Given the description of an element on the screen output the (x, y) to click on. 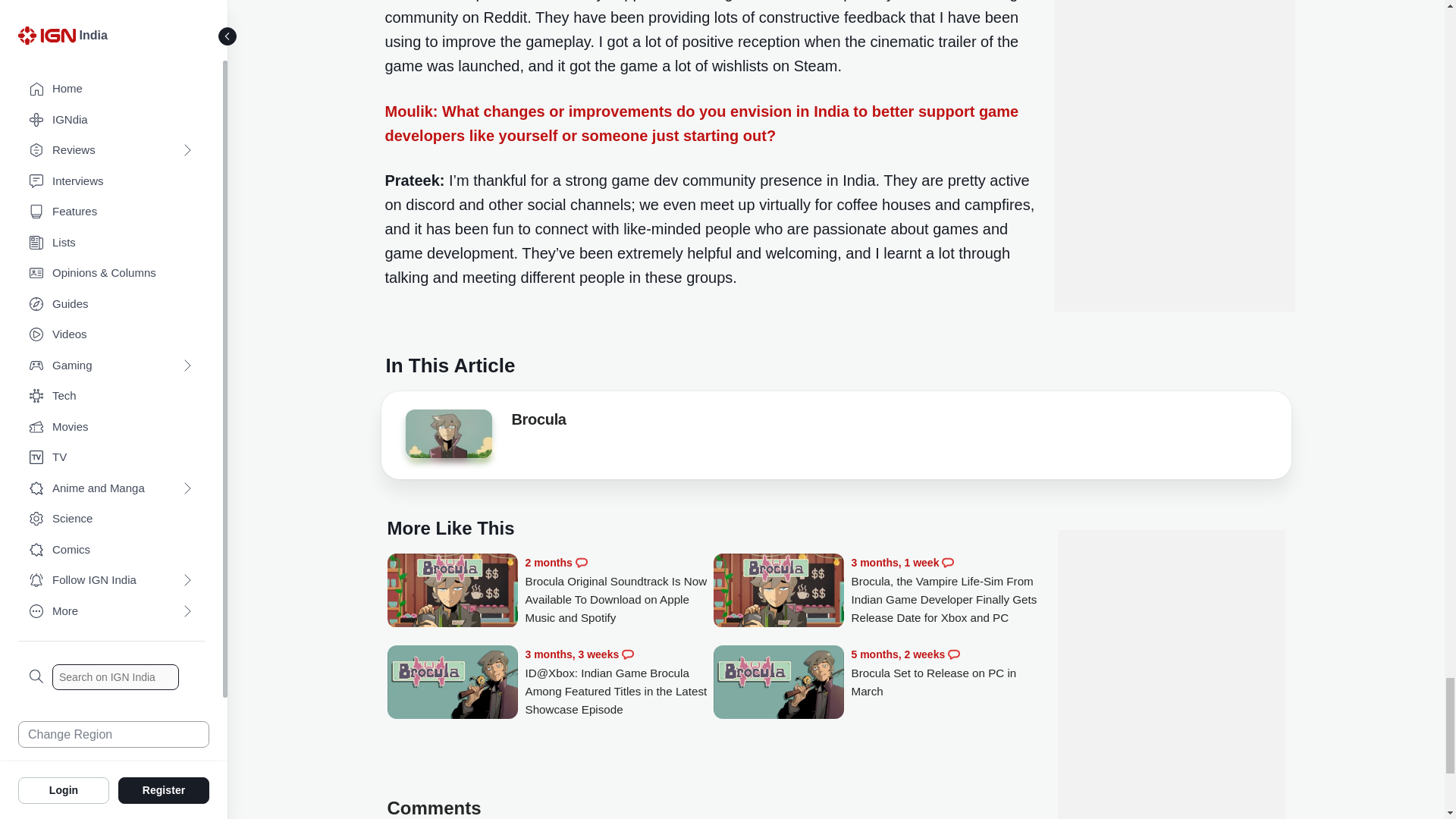
Brocula (448, 433)
Brocula (448, 438)
Brocula Set to Release on PC in March (778, 683)
Brocula Set to Release on PC in March (944, 673)
Brocula (538, 422)
